Given the description of an element on the screen output the (x, y) to click on. 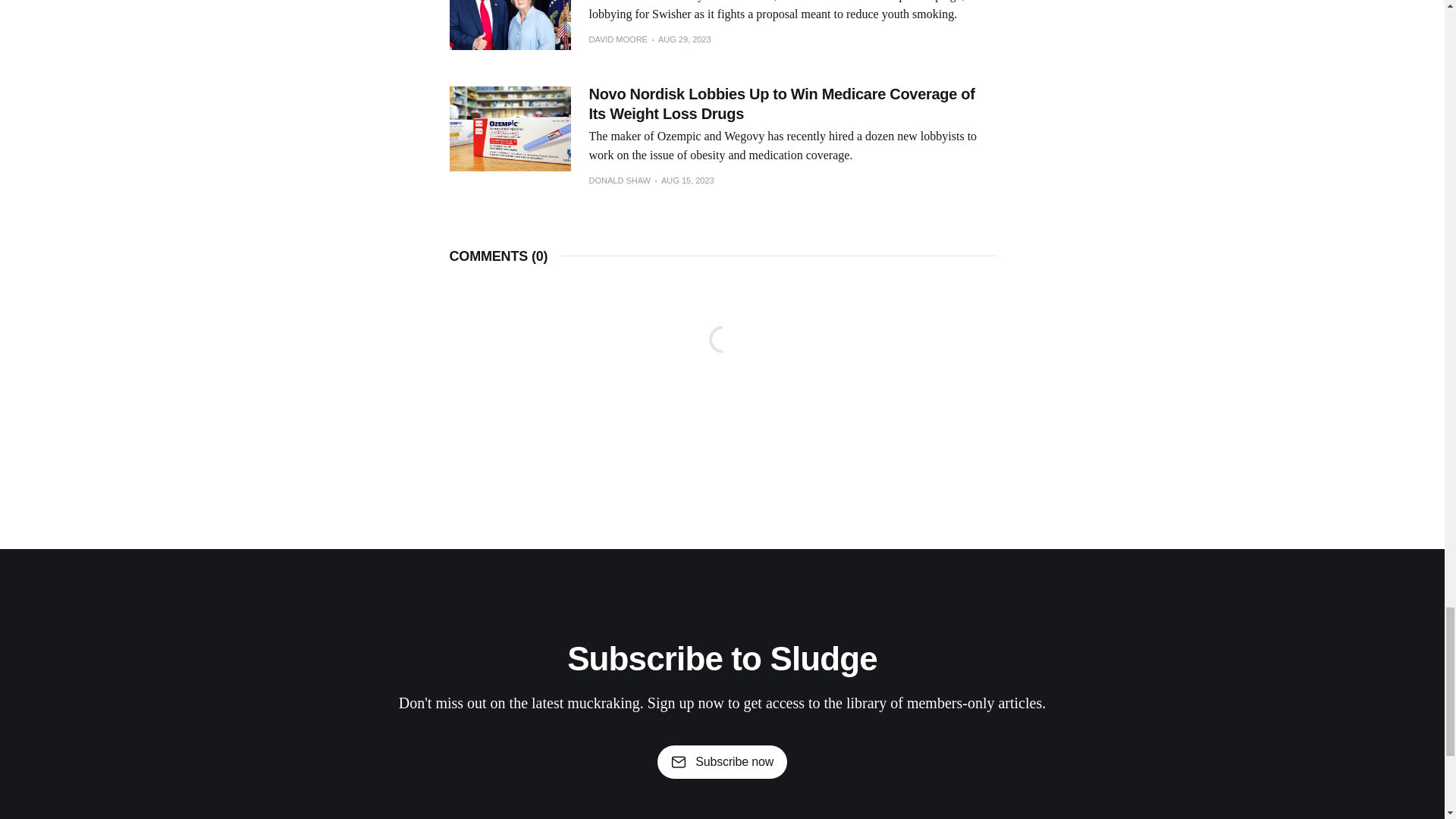
comments-frame (721, 357)
Subscribe now (722, 761)
